Given the description of an element on the screen output the (x, y) to click on. 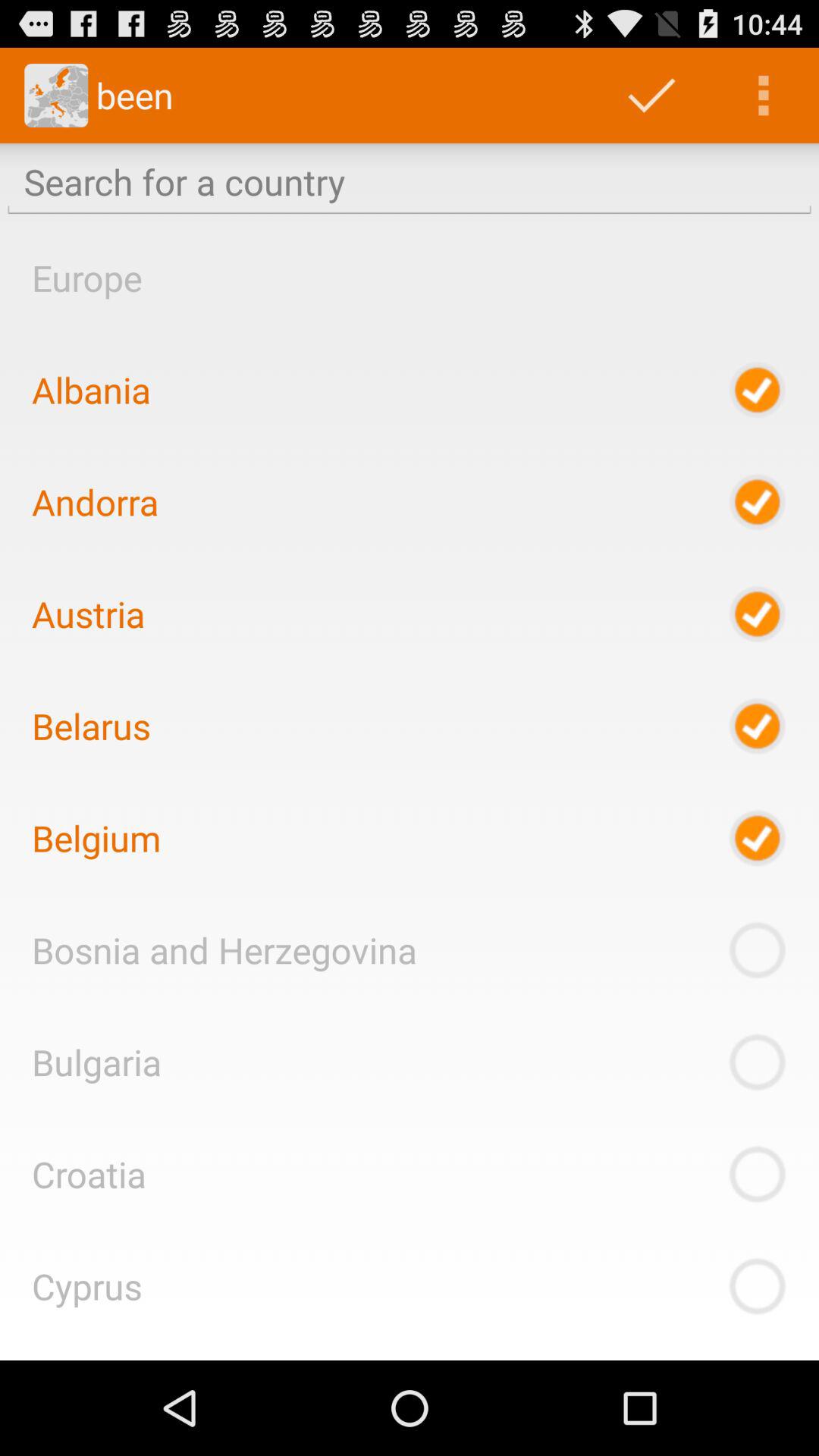
press item above the bosnia and herzegovina icon (95, 837)
